Given the description of an element on the screen output the (x, y) to click on. 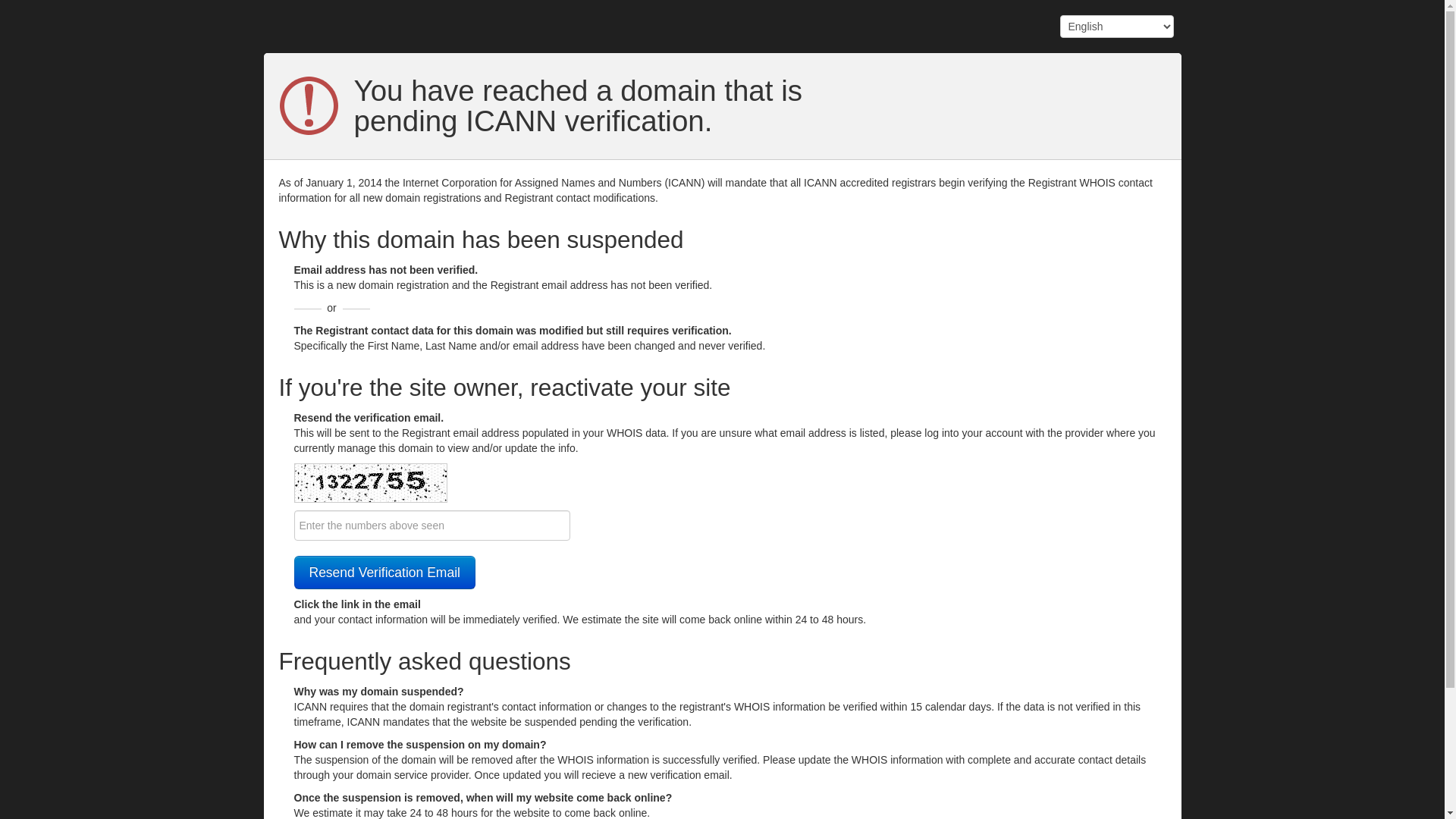
Resend Verification Email Element type: text (384, 572)
